Given the description of an element on the screen output the (x, y) to click on. 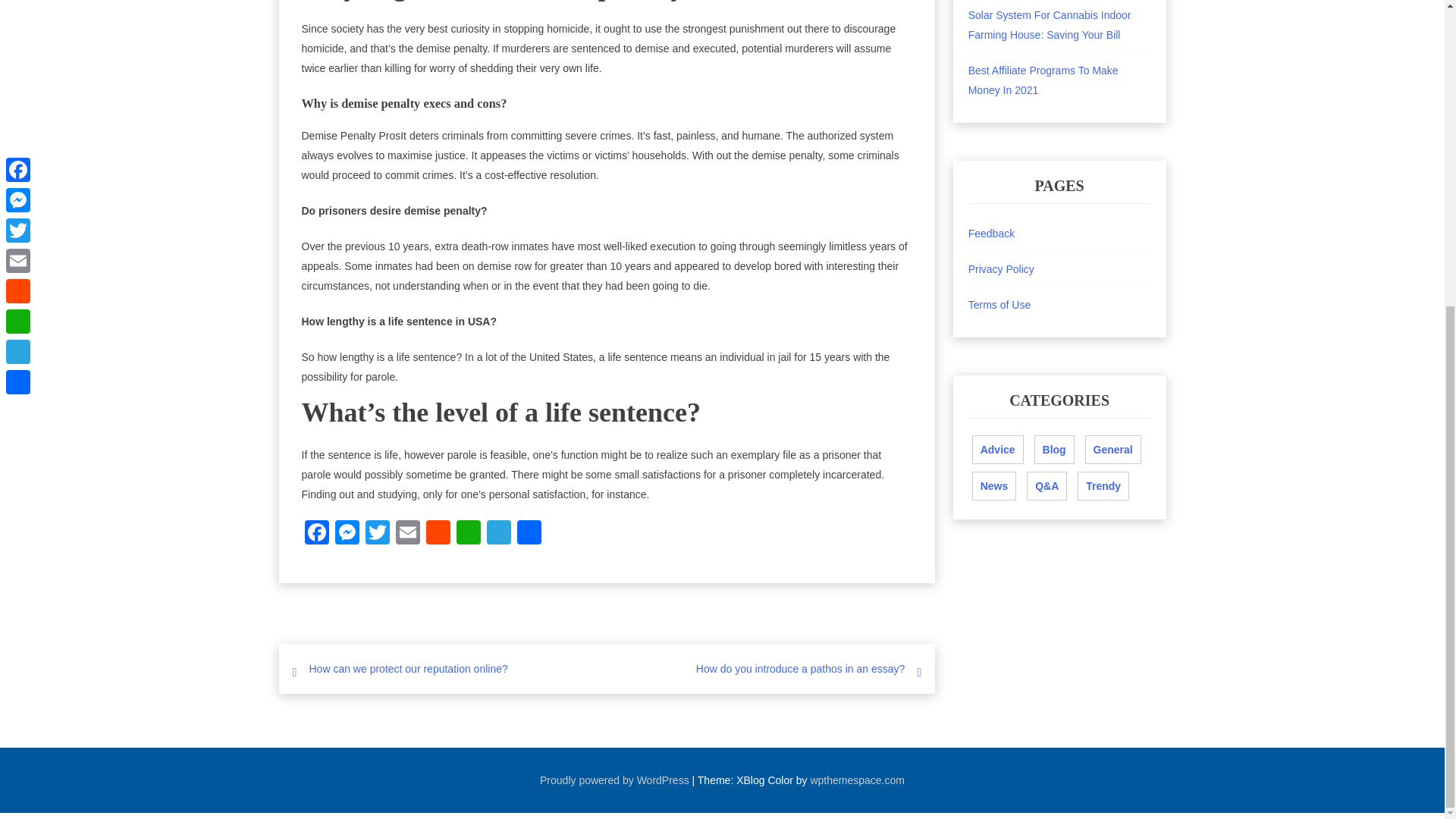
General (1112, 449)
wpthemespace.com (856, 780)
Reddit (437, 533)
Reddit (437, 533)
How do you introduce a pathos in an essay? (800, 668)
Facebook (316, 533)
Trendy (1103, 485)
Twitter (377, 533)
Terms of Use (999, 304)
Advice (997, 449)
